Given the description of an element on the screen output the (x, y) to click on. 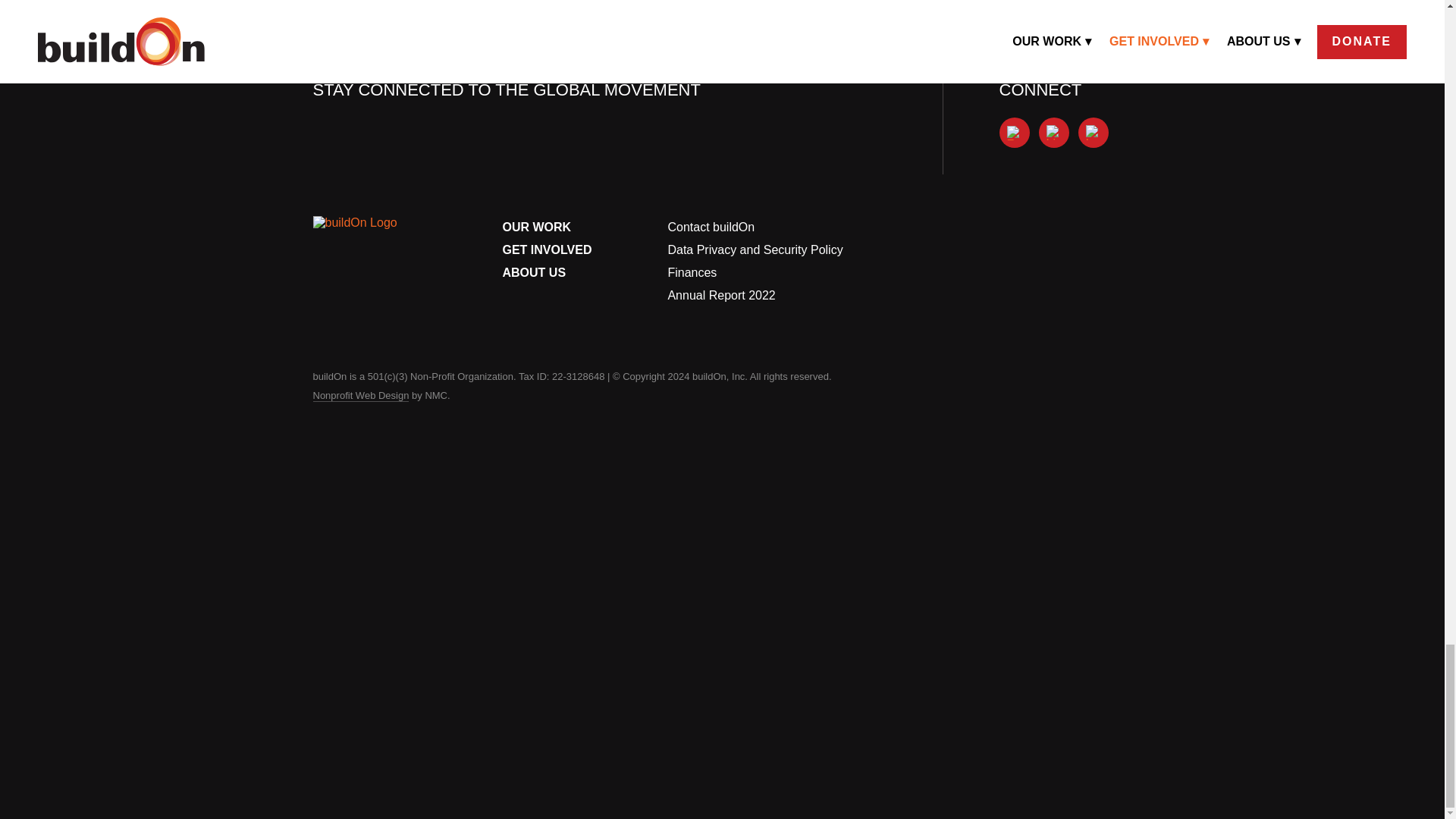
Sign Up Form (581, 173)
homepage (369, 232)
